Given the description of an element on the screen output the (x, y) to click on. 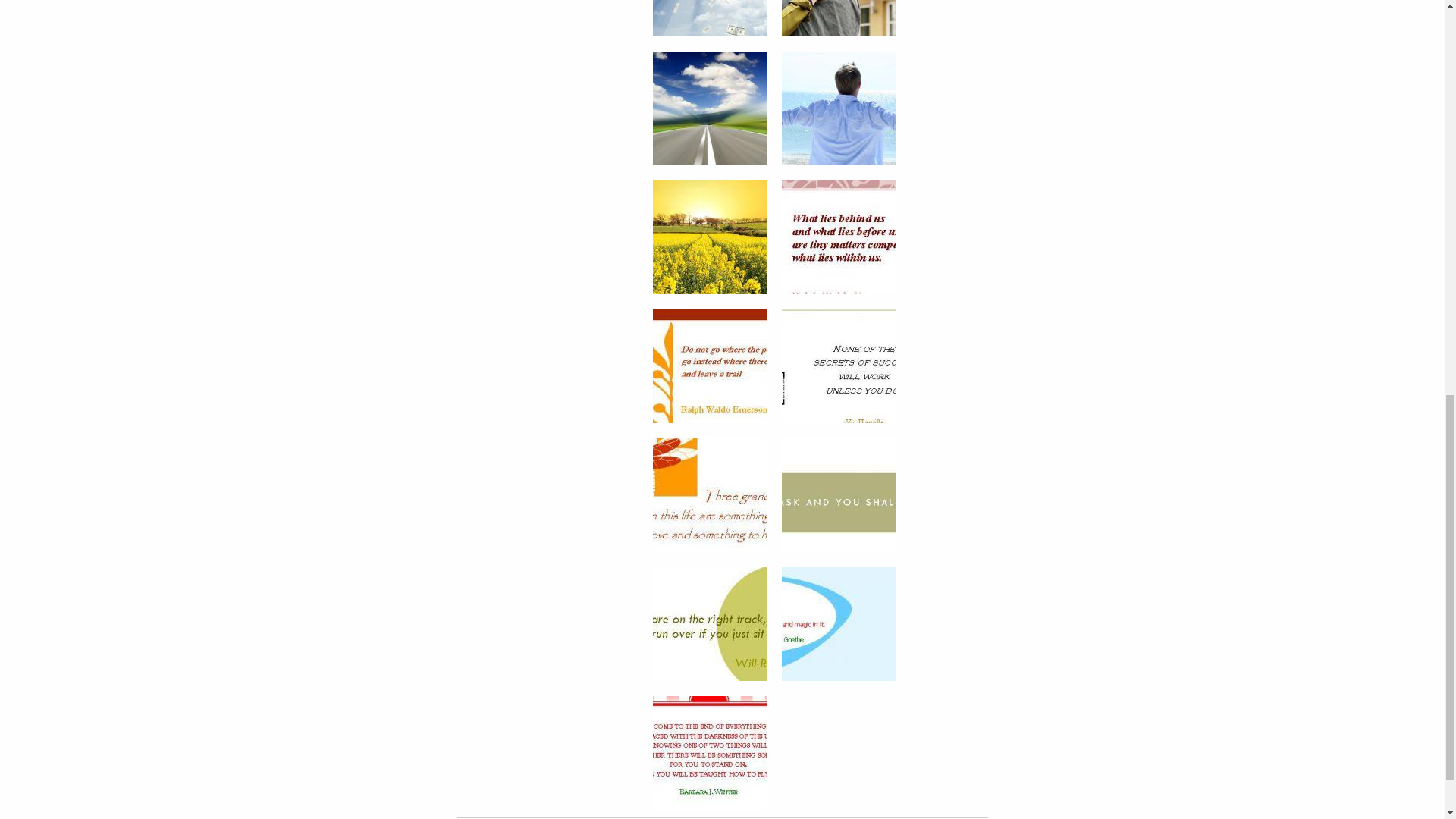
quote7.jpg (838, 622)
quote1.jpg (838, 235)
quote2.jpg (709, 364)
pic9.jpg (709, 235)
pic7.jpg (709, 106)
quote4.jpg (709, 492)
quote6.jpg (709, 622)
quote3.jpg (838, 364)
quote5.jpg (838, 492)
quote8.jpg (709, 750)
